Given the description of an element on the screen output the (x, y) to click on. 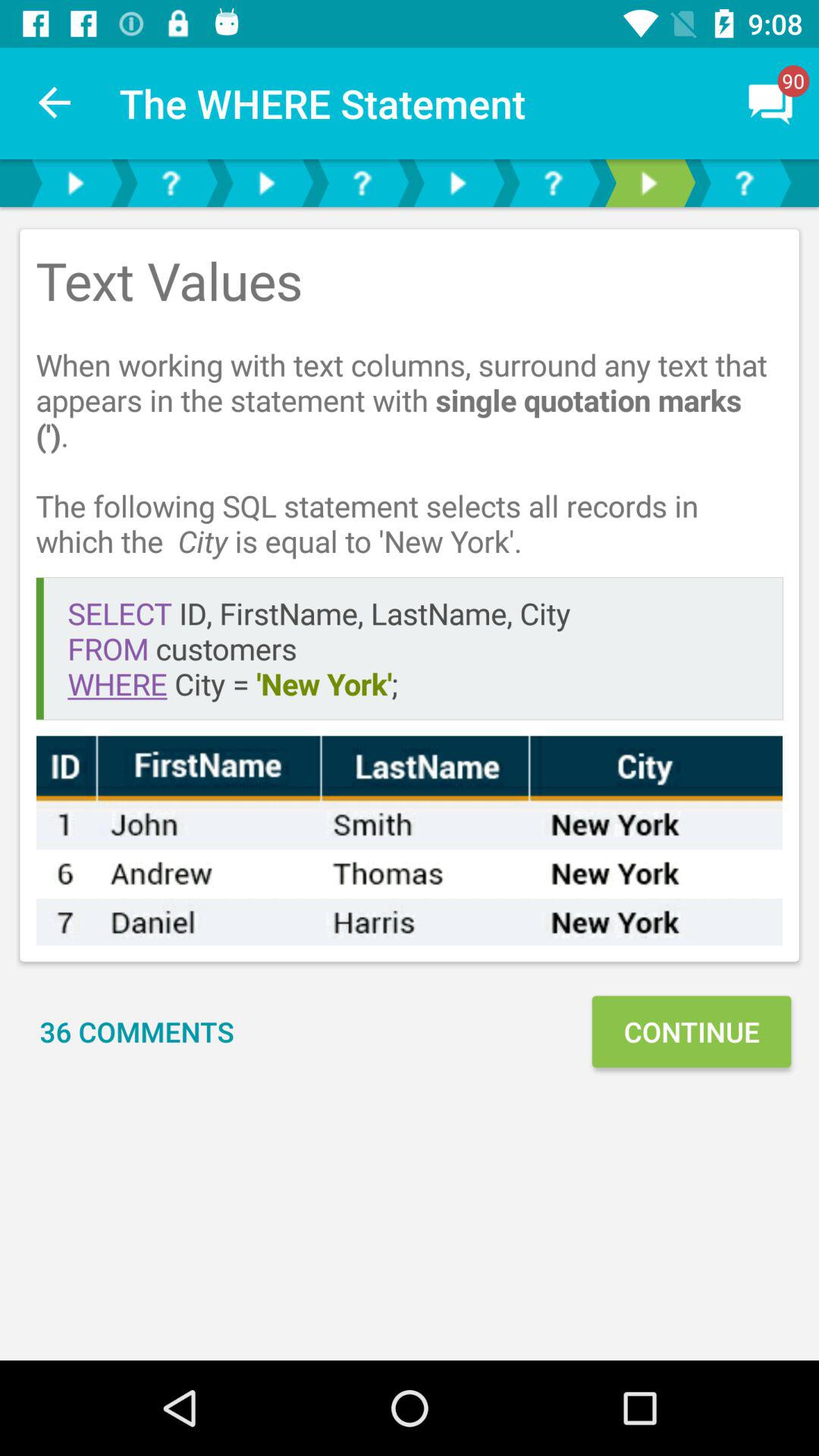
next area (648, 183)
